Given the description of an element on the screen output the (x, y) to click on. 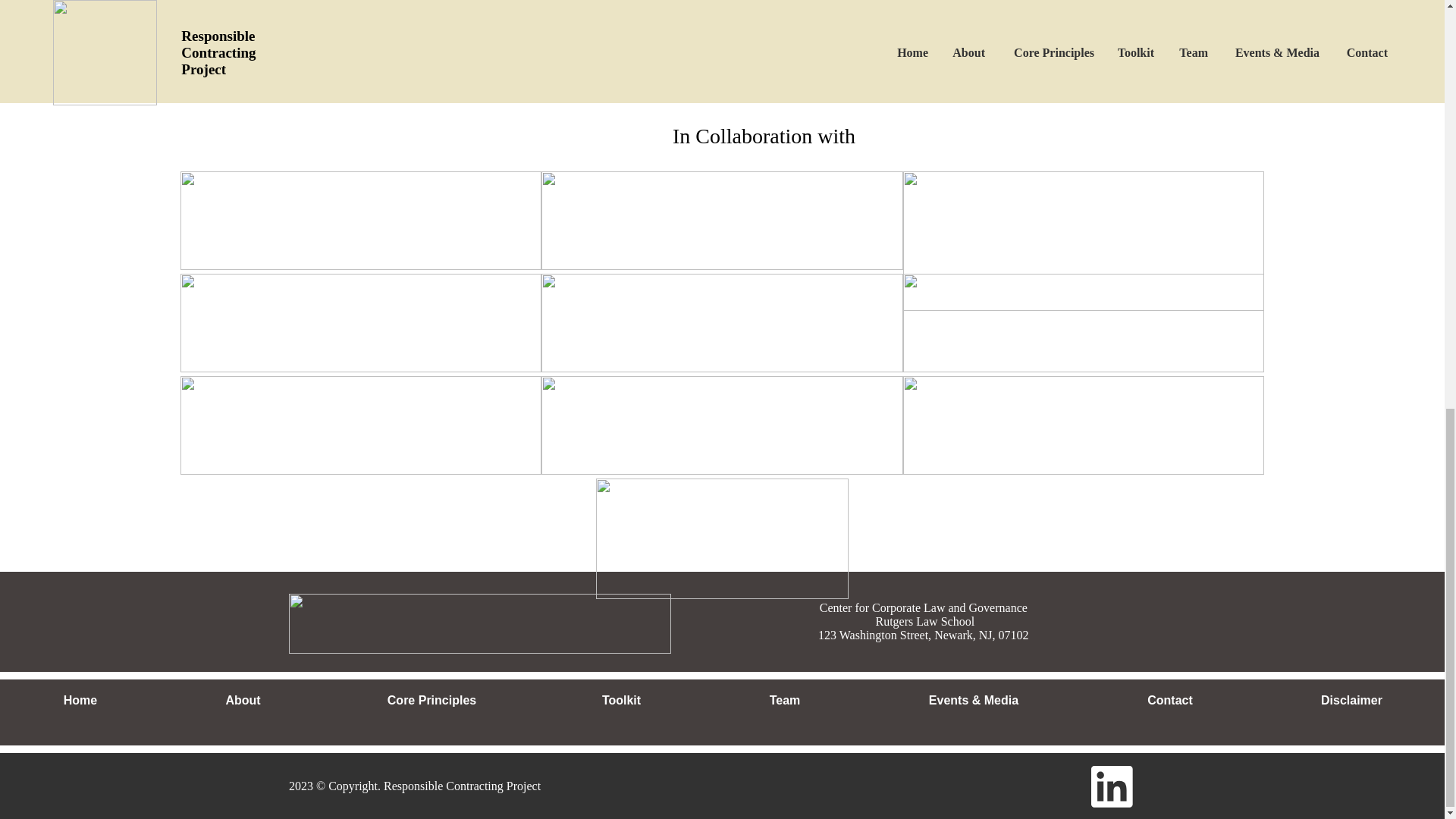
About (242, 700)
Core Principles (431, 700)
Home (80, 700)
Toolkit (620, 700)
Team (783, 700)
Contact (1169, 700)
